Given the description of an element on the screen output the (x, y) to click on. 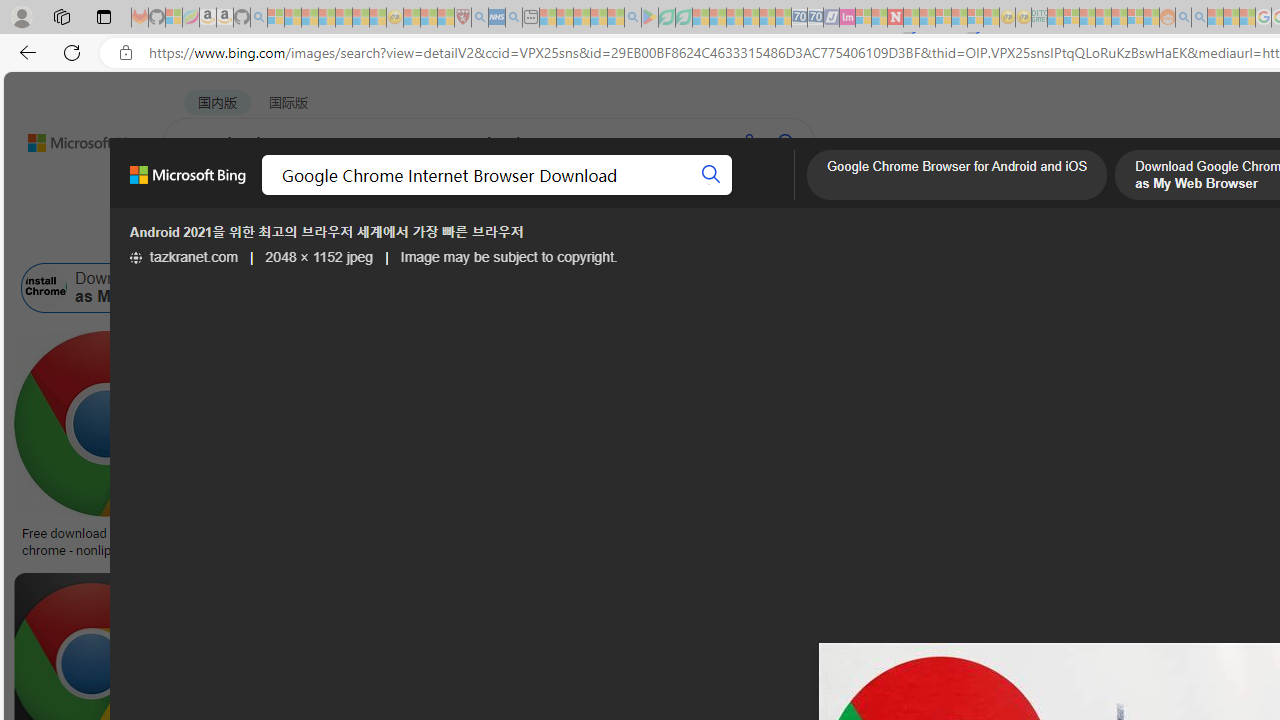
ACADEMIC (635, 195)
tazkranet.com (184, 257)
License (665, 237)
ACADEMIC (635, 195)
Color (305, 237)
Microsoft Bing, Back to Bing search (188, 183)
Download Google Chrome as My Web Browser (152, 287)
